Given the description of an element on the screen output the (x, y) to click on. 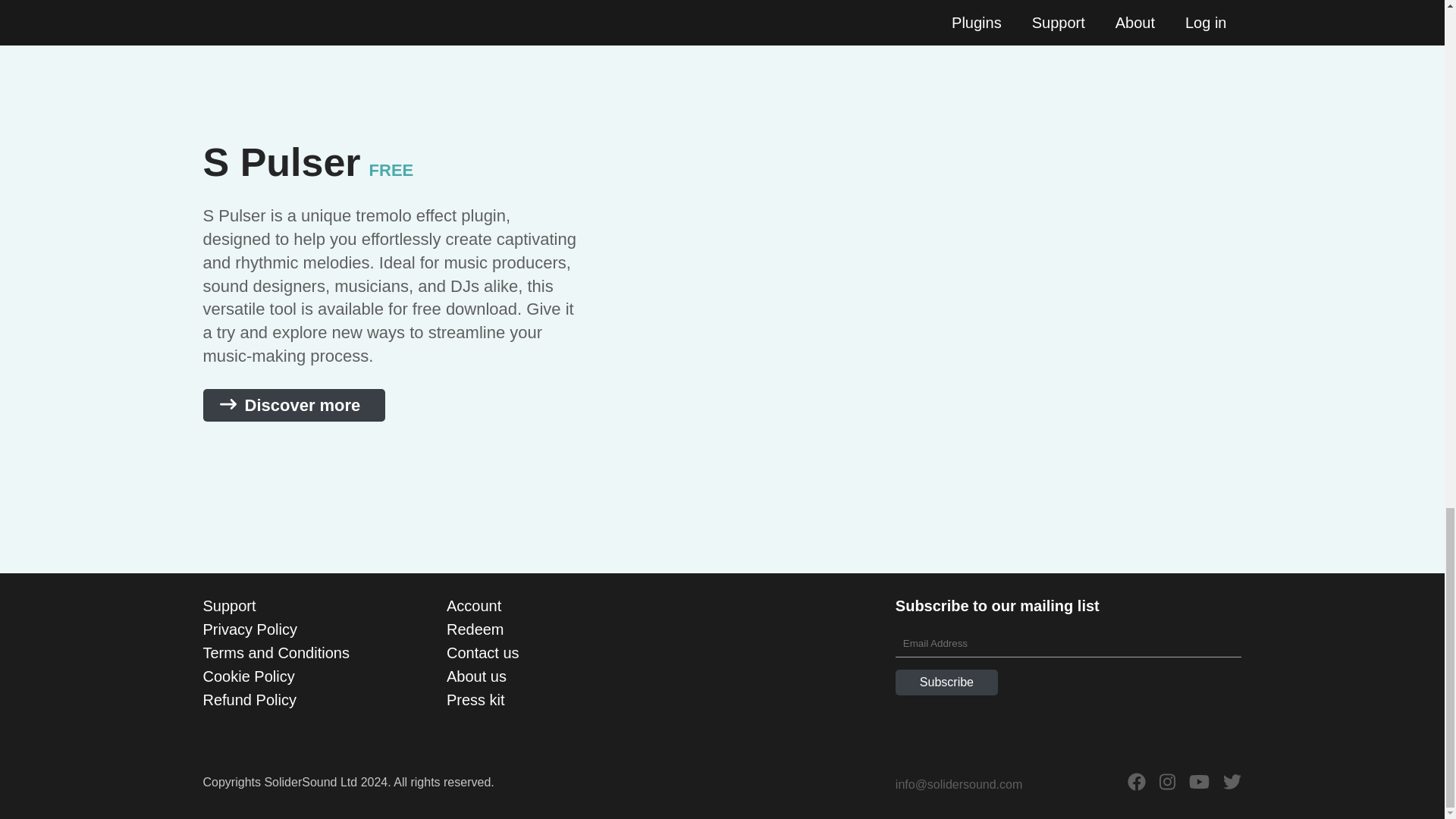
Account (473, 605)
Refund Policy (250, 699)
Discover more (294, 405)
Press kit (475, 699)
Support (229, 605)
Subscribe (946, 682)
Contact us (482, 652)
Cookie Policy (249, 676)
About us (476, 676)
Redeem (474, 629)
